Given the description of an element on the screen output the (x, y) to click on. 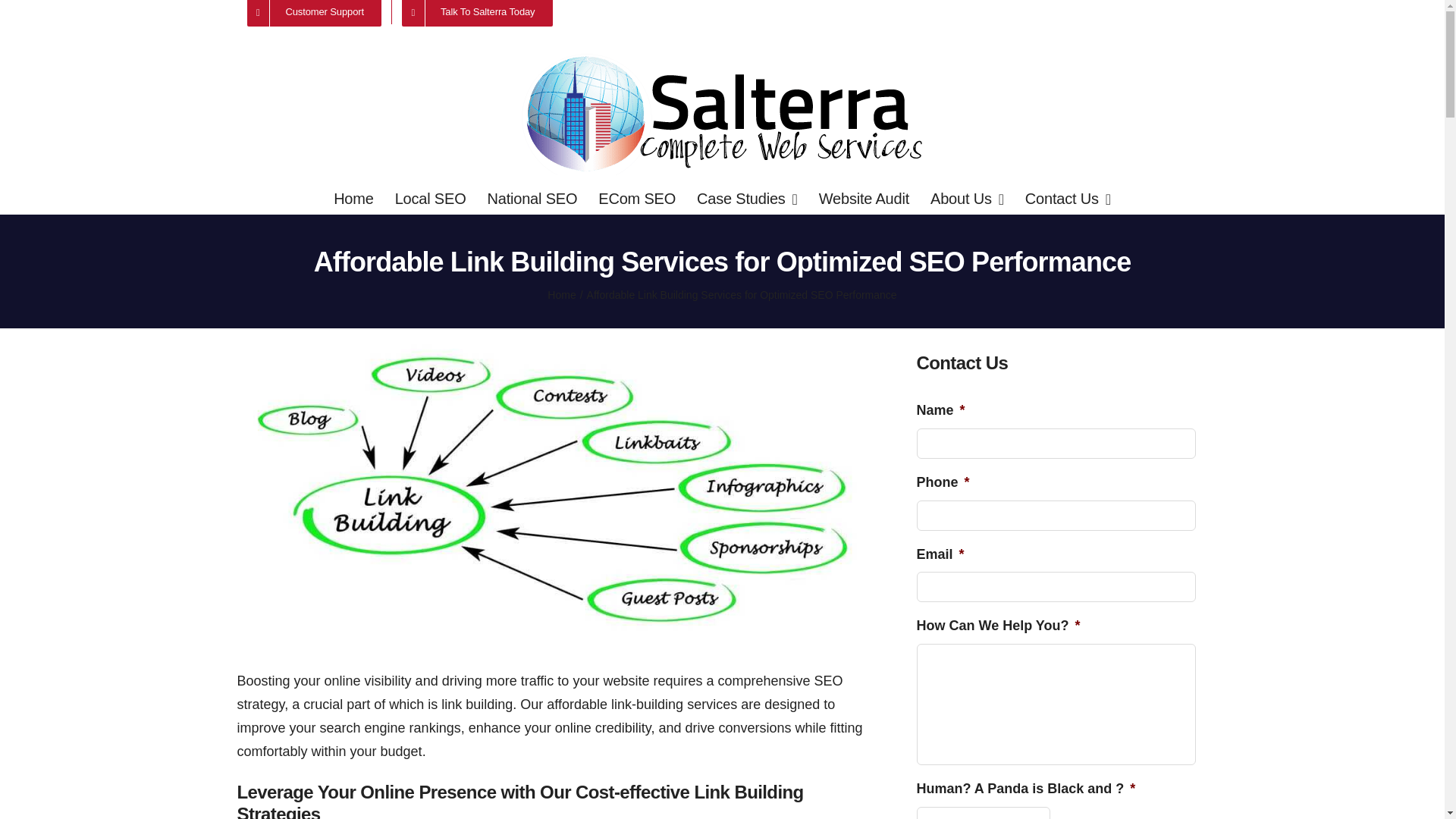
Local SEO (429, 198)
About Us (967, 198)
Customer Support (312, 12)
Website Audit (863, 198)
Case Studies (747, 198)
National SEO (531, 198)
Talk To Salterra Today (476, 12)
ECom SEO (636, 198)
Contact Us (1067, 198)
Home (353, 198)
